Given the description of an element on the screen output the (x, y) to click on. 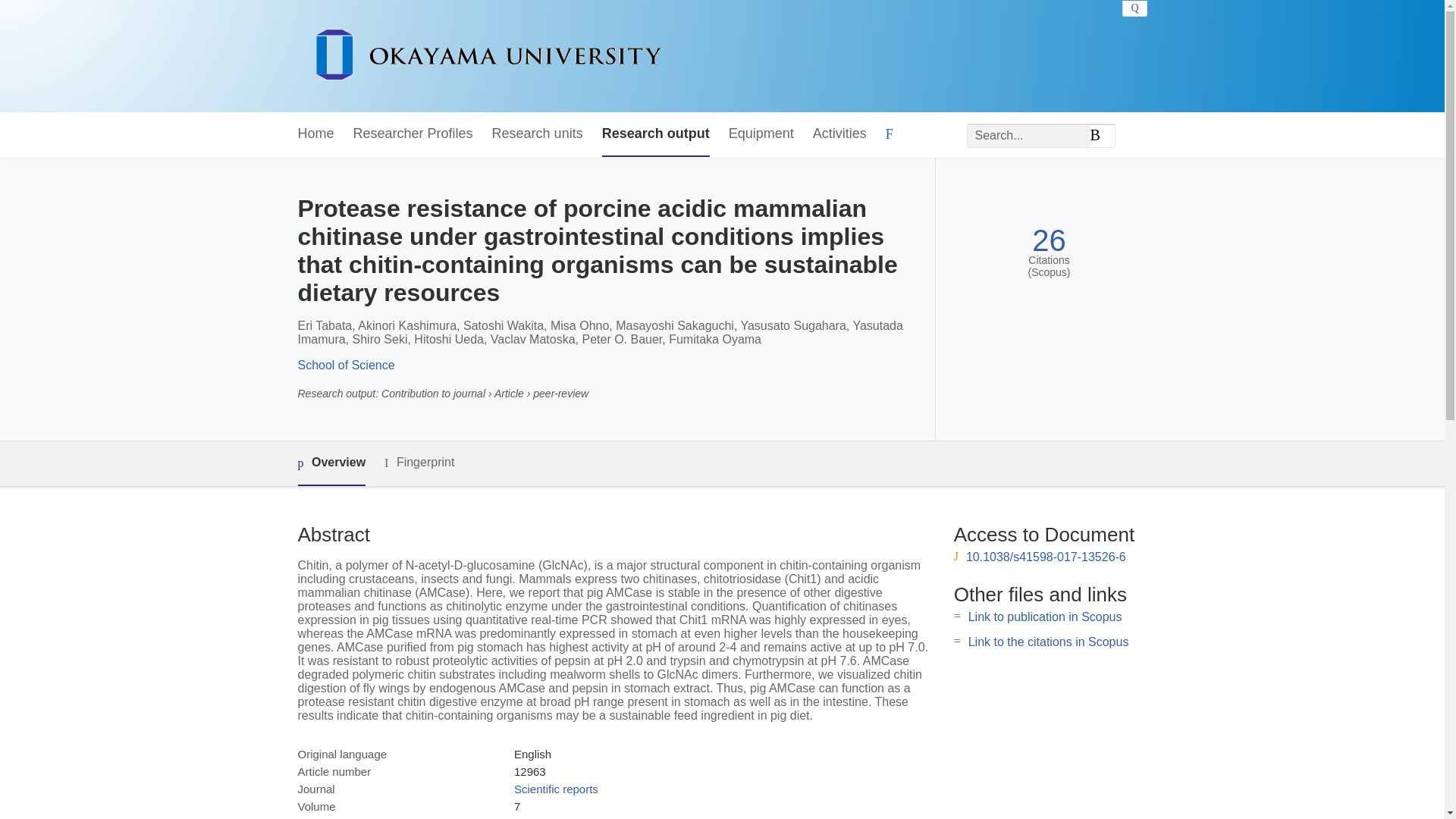
Home (315, 134)
Link to the citations in Scopus (1048, 641)
Link to publication in Scopus (1045, 616)
Research output (656, 134)
Scientific reports (555, 788)
26 (1048, 240)
Overview (331, 463)
Research units (537, 134)
Activities (839, 134)
Fingerprint (419, 462)
School of Science (345, 364)
Okayama University Home (487, 55)
Researcher Profiles (413, 134)
Equipment (761, 134)
